Given the description of an element on the screen output the (x, y) to click on. 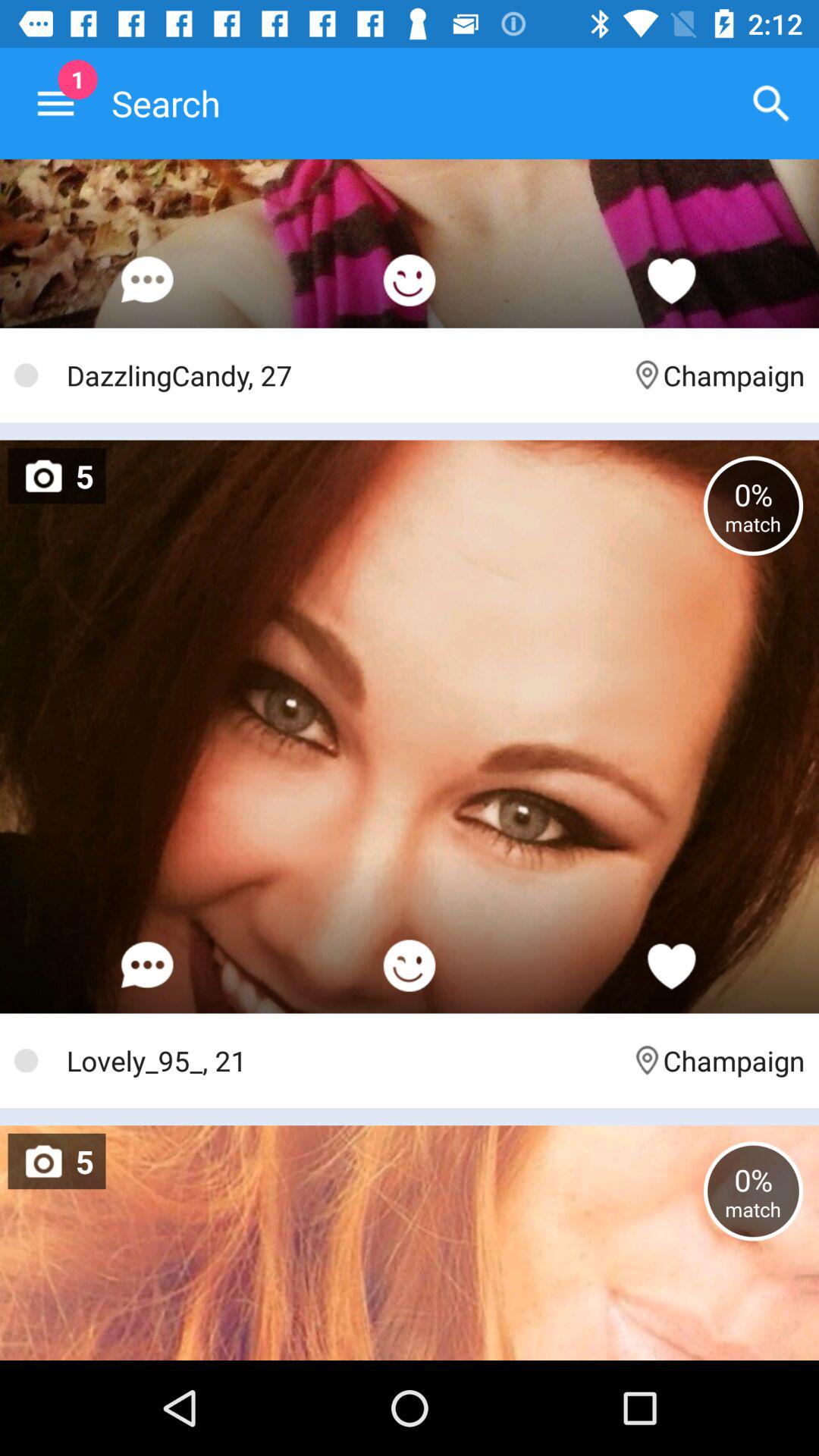
click icon to the left of the champaign (341, 1060)
